Given the description of an element on the screen output the (x, y) to click on. 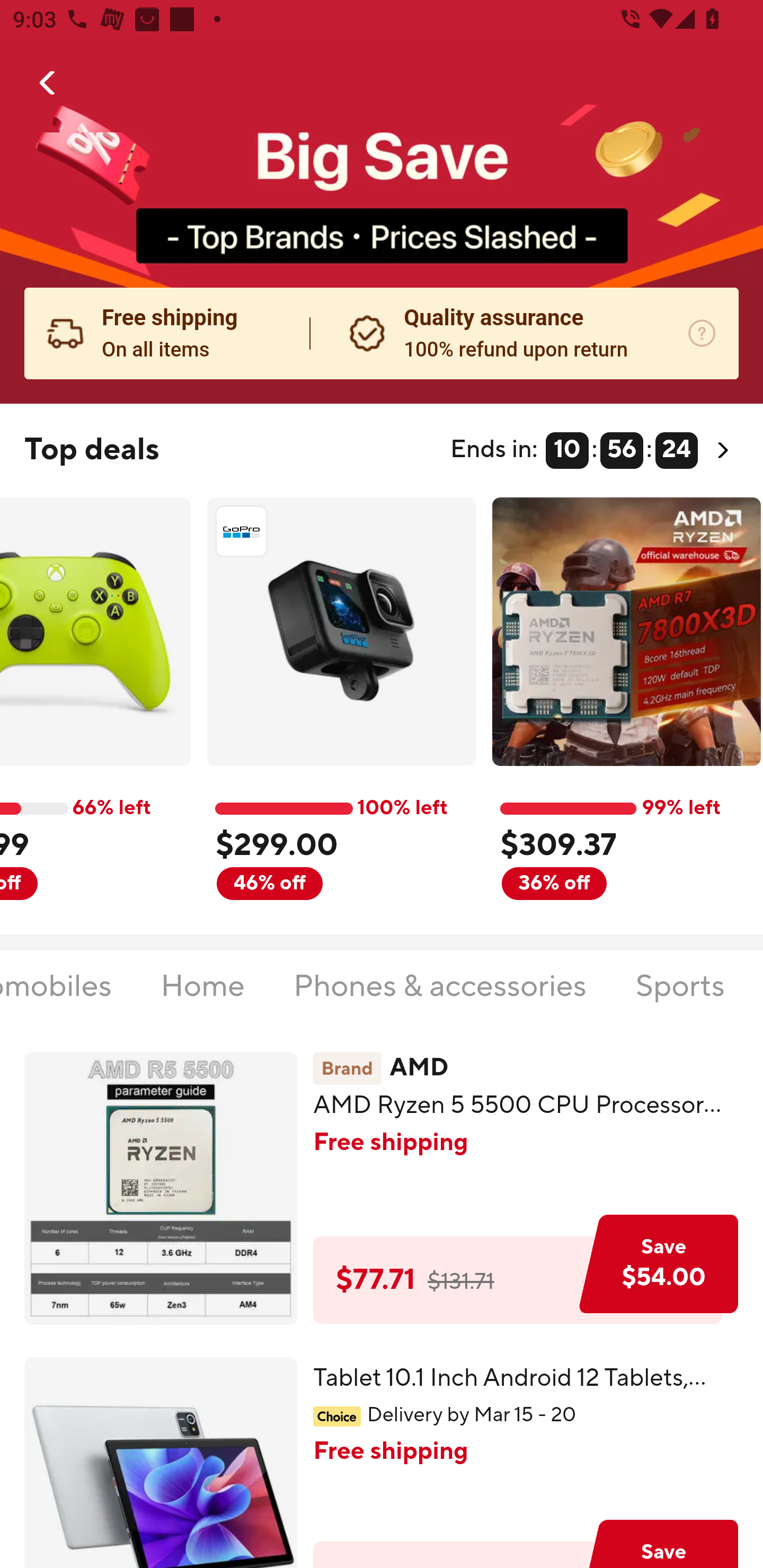
 (48, 82)
Automobiles (56, 996)
Home (202, 996)
Phones & accessories (439, 996)
Sports (679, 996)
